Given the description of an element on the screen output the (x, y) to click on. 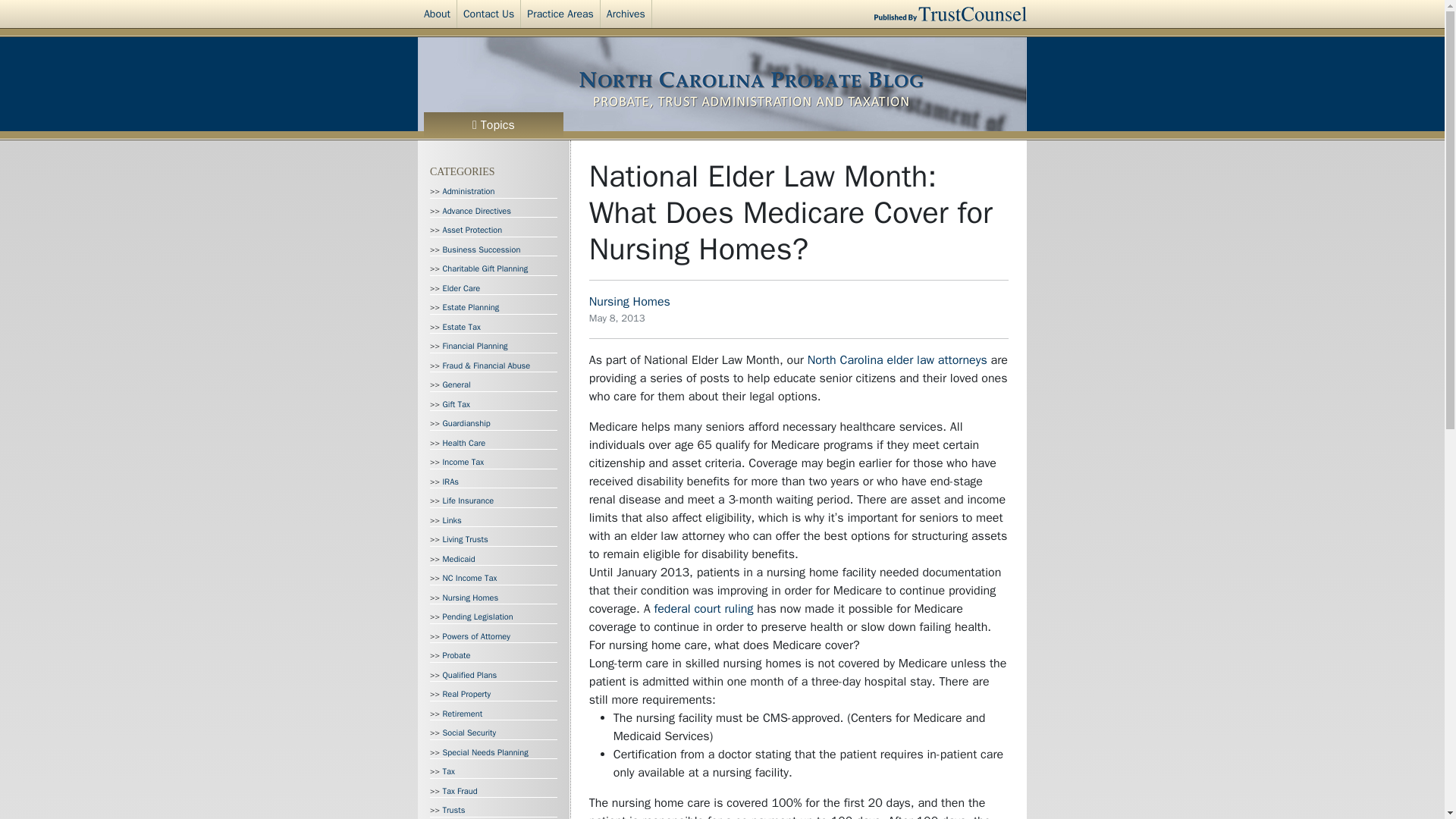
Health Care (464, 441)
Income Tax (463, 461)
NC Income Tax (469, 577)
IRAs (451, 480)
Asset Protection (472, 229)
General (456, 384)
Financial Planning (475, 345)
Administration (468, 190)
Qualified Plans (469, 674)
Links (451, 519)
Practice Areas (560, 13)
Nursing Homes (470, 596)
Special Needs Planning (485, 751)
Business Succession (481, 249)
Elder Care (461, 286)
